Given the description of an element on the screen output the (x, y) to click on. 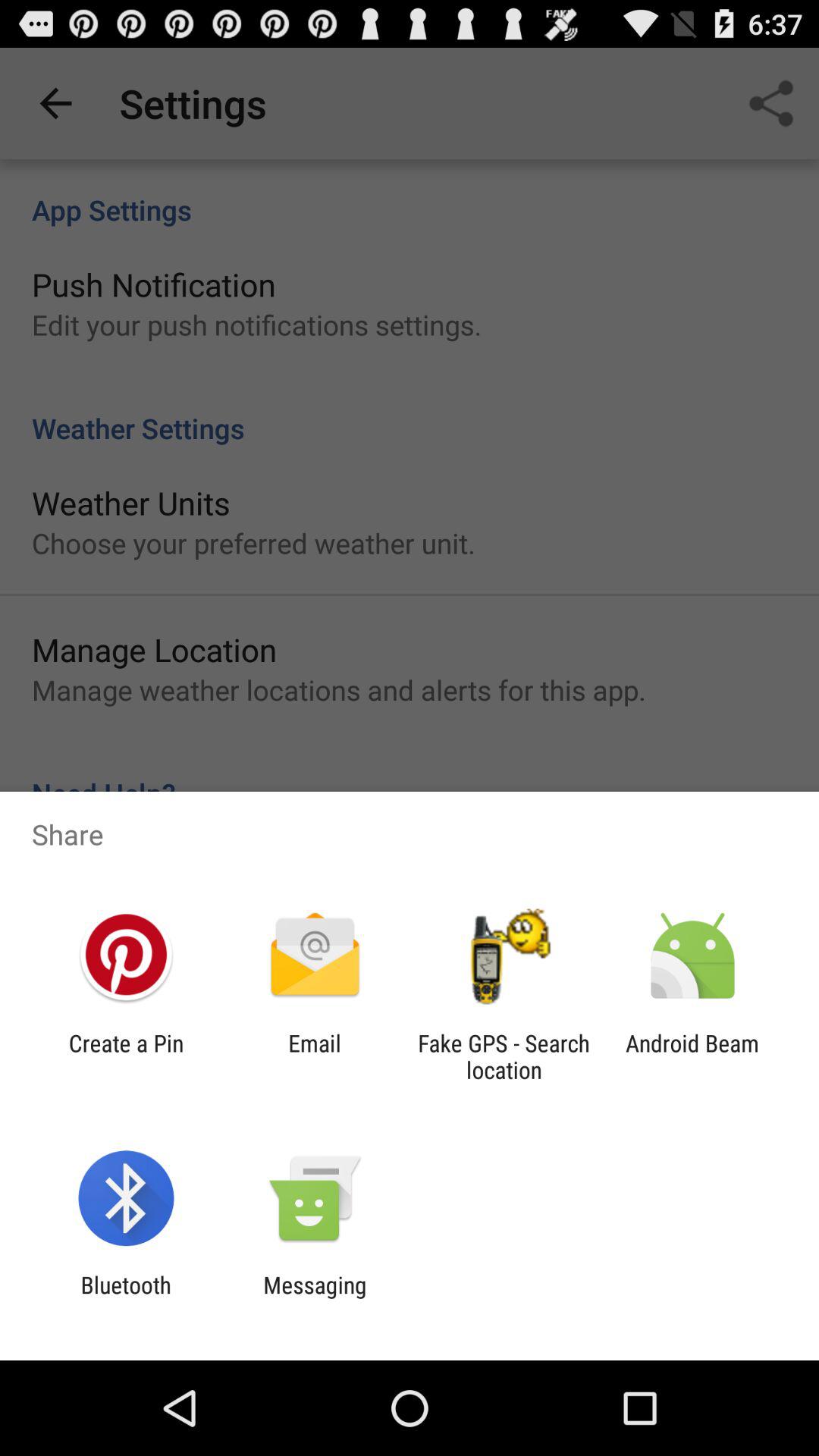
select item to the left of the fake gps search app (314, 1056)
